Given the description of an element on the screen output the (x, y) to click on. 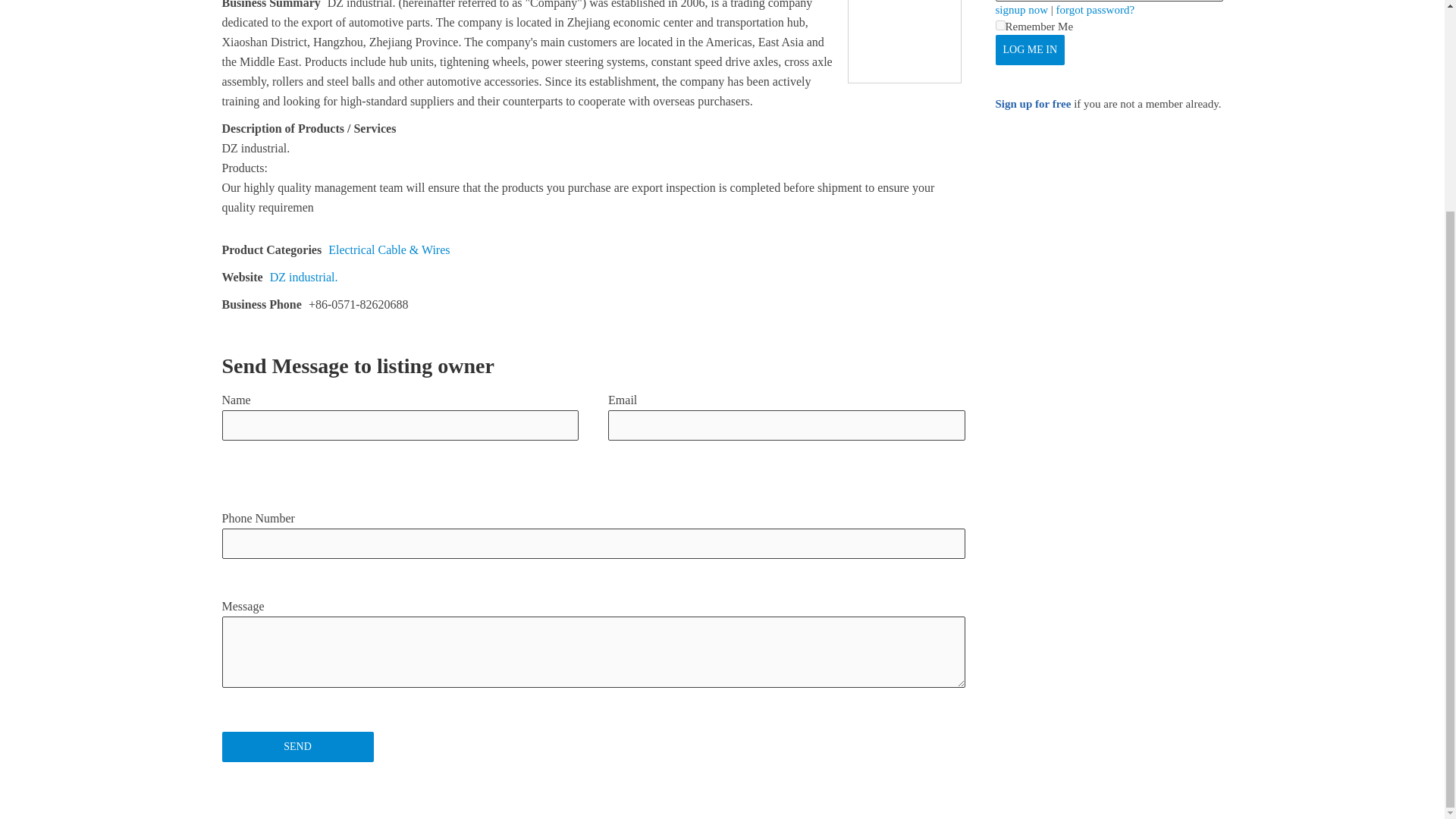
DZ industrial (903, 41)
forever (999, 25)
Log Me In (1029, 50)
Send (296, 747)
DZ industrial. (303, 277)
